Given the description of an element on the screen output the (x, y) to click on. 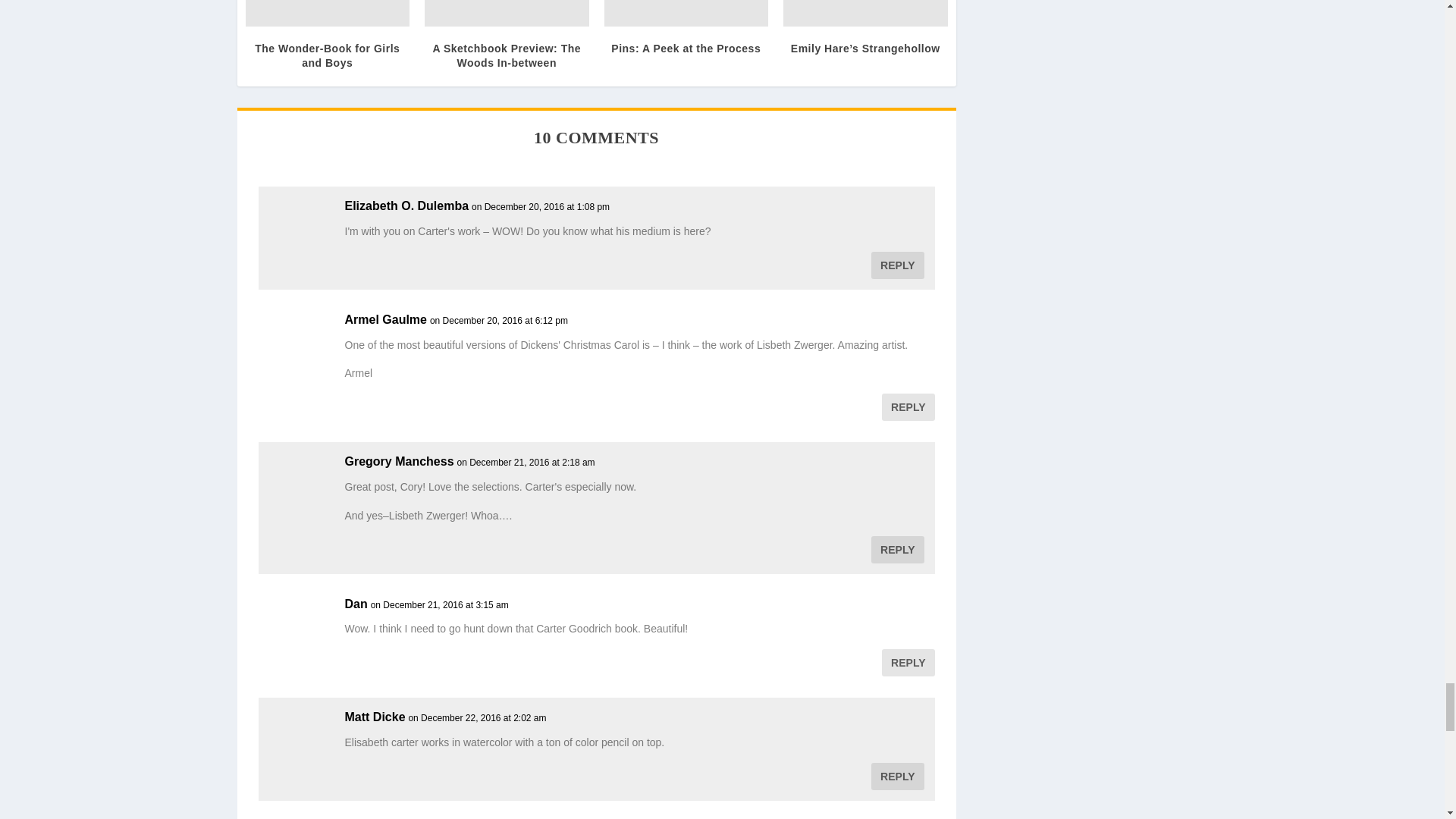
The Wonder-Book for Girls and Boys (328, 13)
Pins: A Peek at the Process (686, 13)
A Sketchbook Preview: The Woods In-between (507, 13)
